Given the description of an element on the screen output the (x, y) to click on. 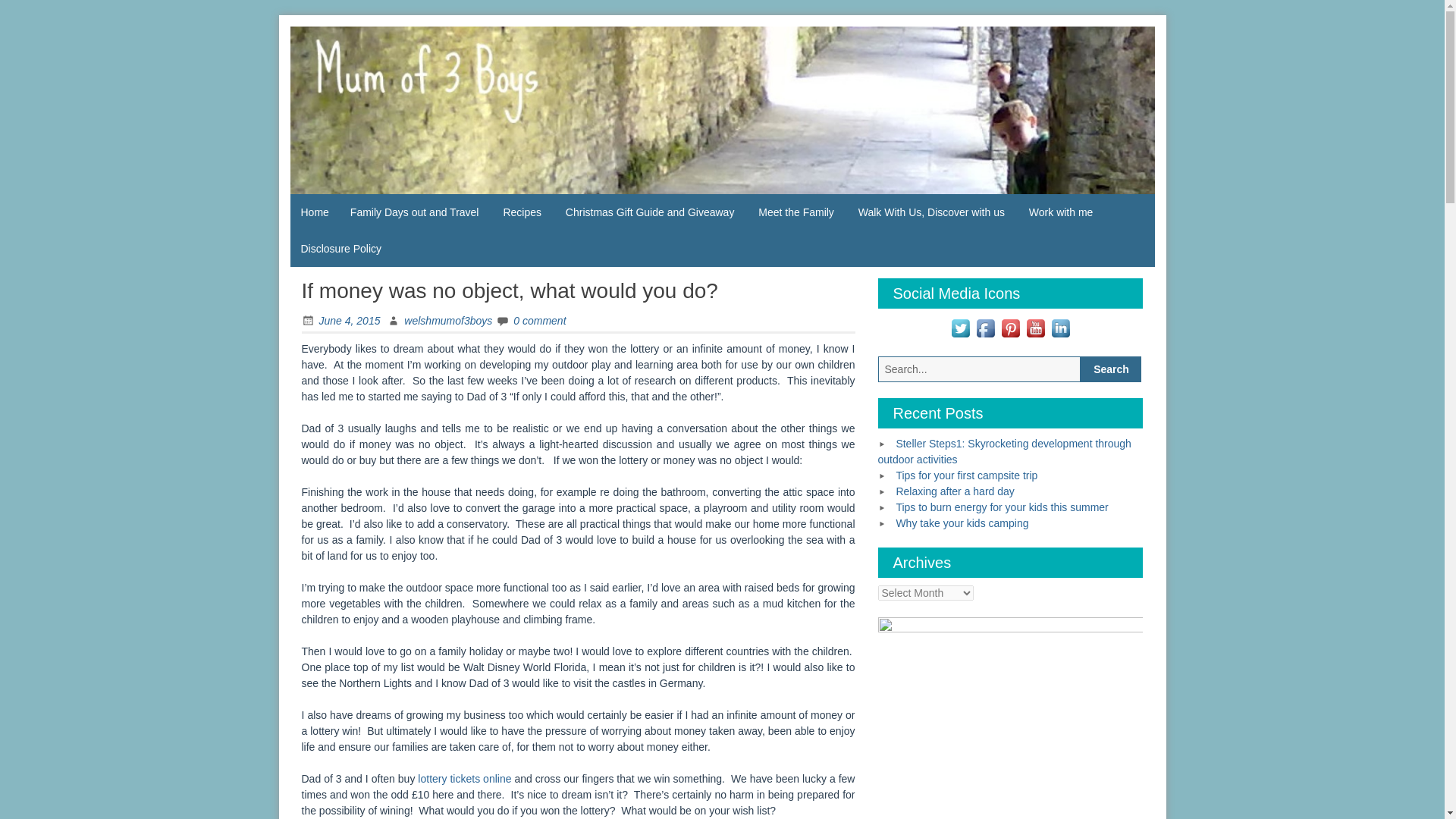
lottery tickets online (463, 778)
Relaxing after a hard day (954, 491)
Disclosure Policy (340, 248)
June 4, 2015 (340, 320)
Christmas Gift Guide and Giveaway (649, 212)
Visit Us On Twitter (959, 326)
Search (1110, 369)
Work with me (1060, 212)
Recipes (521, 212)
Walk With Us, Discover with us (930, 212)
Visit Us On Pinterest (1010, 326)
Search (1110, 369)
Visit Us On Youtube (1035, 326)
Family Days out and Travel (414, 212)
Tips for your first campsite trip (965, 475)
